Given the description of an element on the screen output the (x, y) to click on. 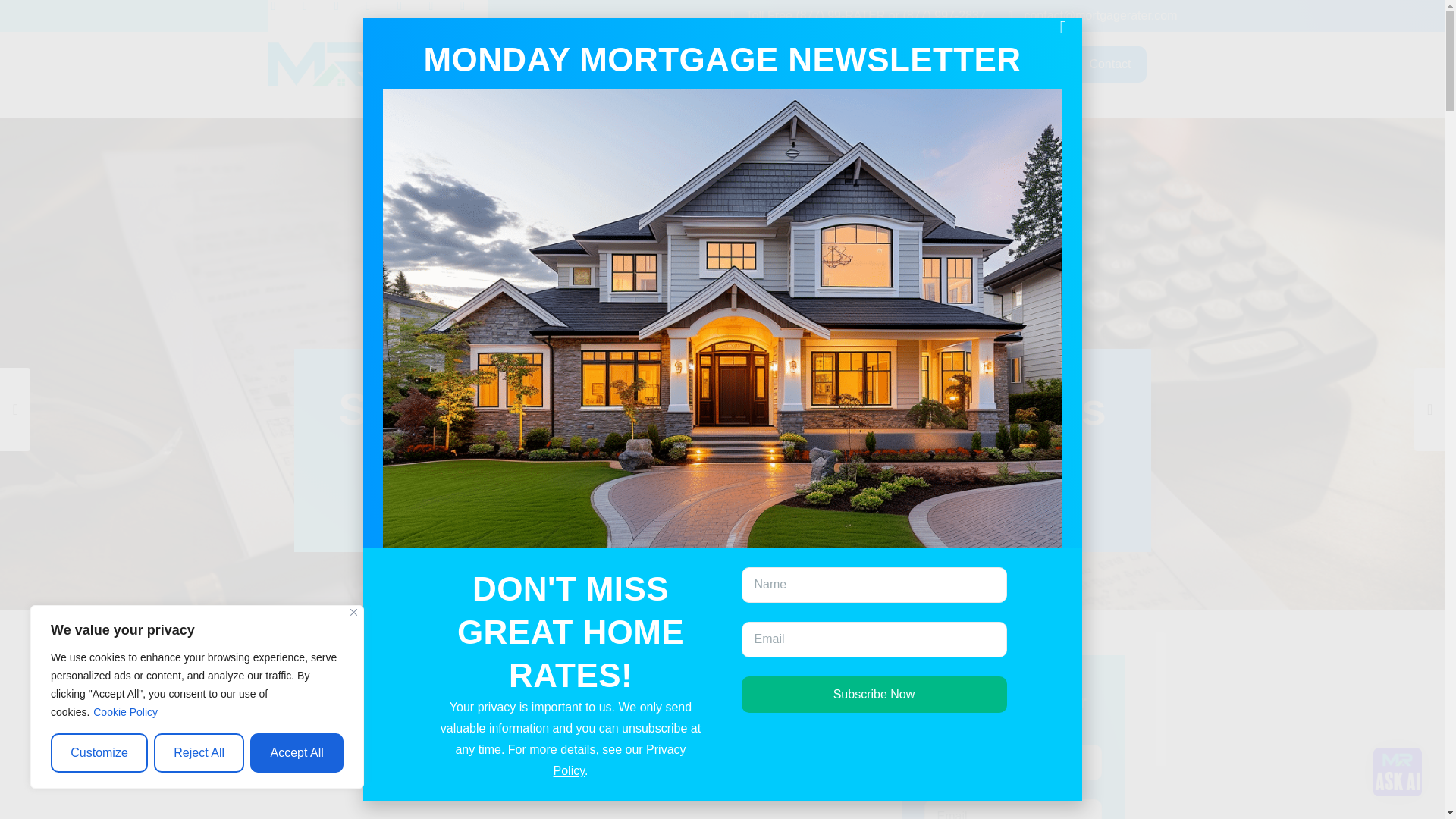
Accept All (296, 753)
Reject All (199, 753)
Customize (99, 753)
Cookie Policy (125, 712)
